Given the description of an element on the screen output the (x, y) to click on. 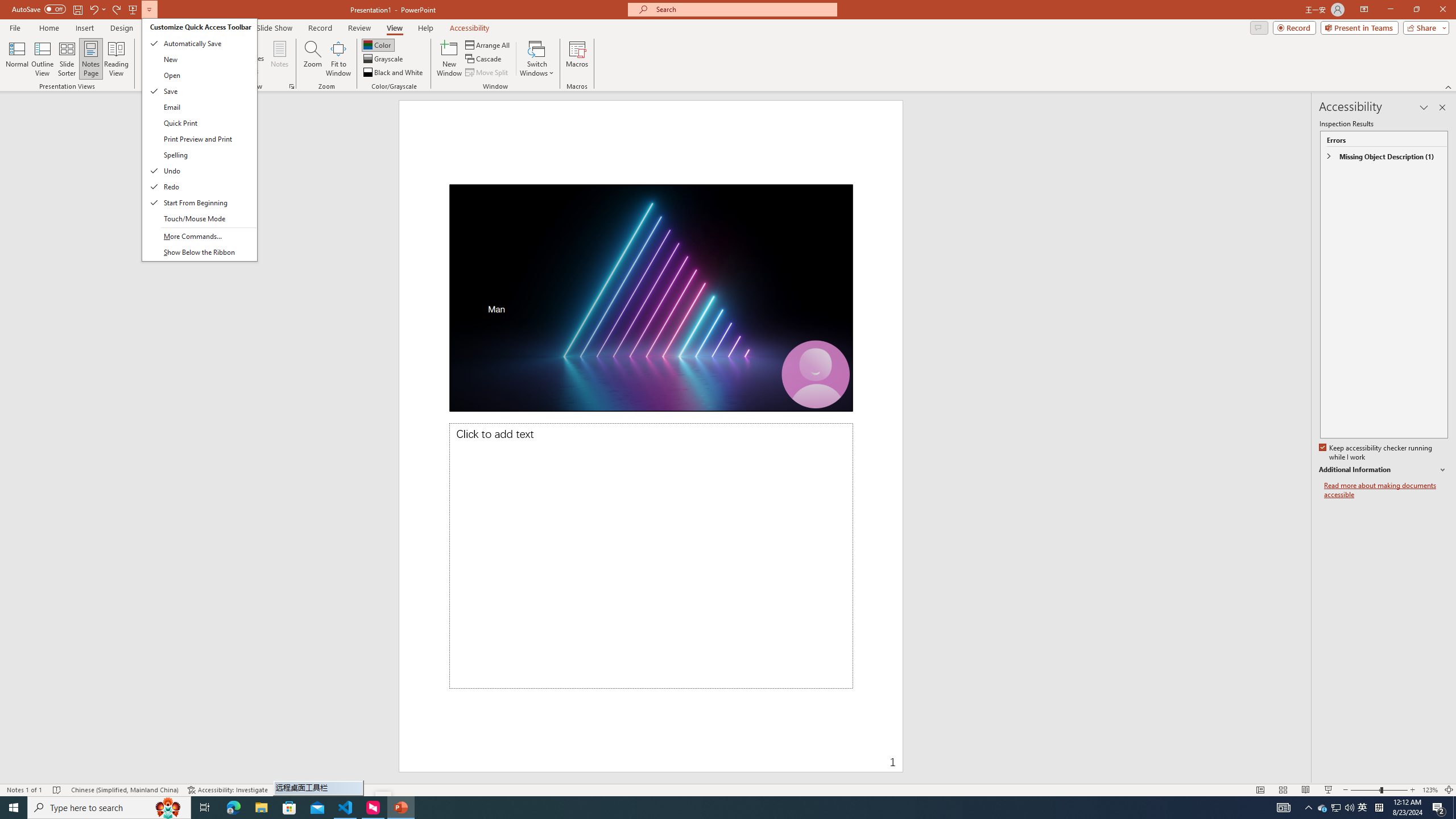
Read more about making documents accessible (1385, 489)
File Explorer (261, 807)
Grid Settings... (291, 85)
New Window (449, 58)
